Given the description of an element on the screen output the (x, y) to click on. 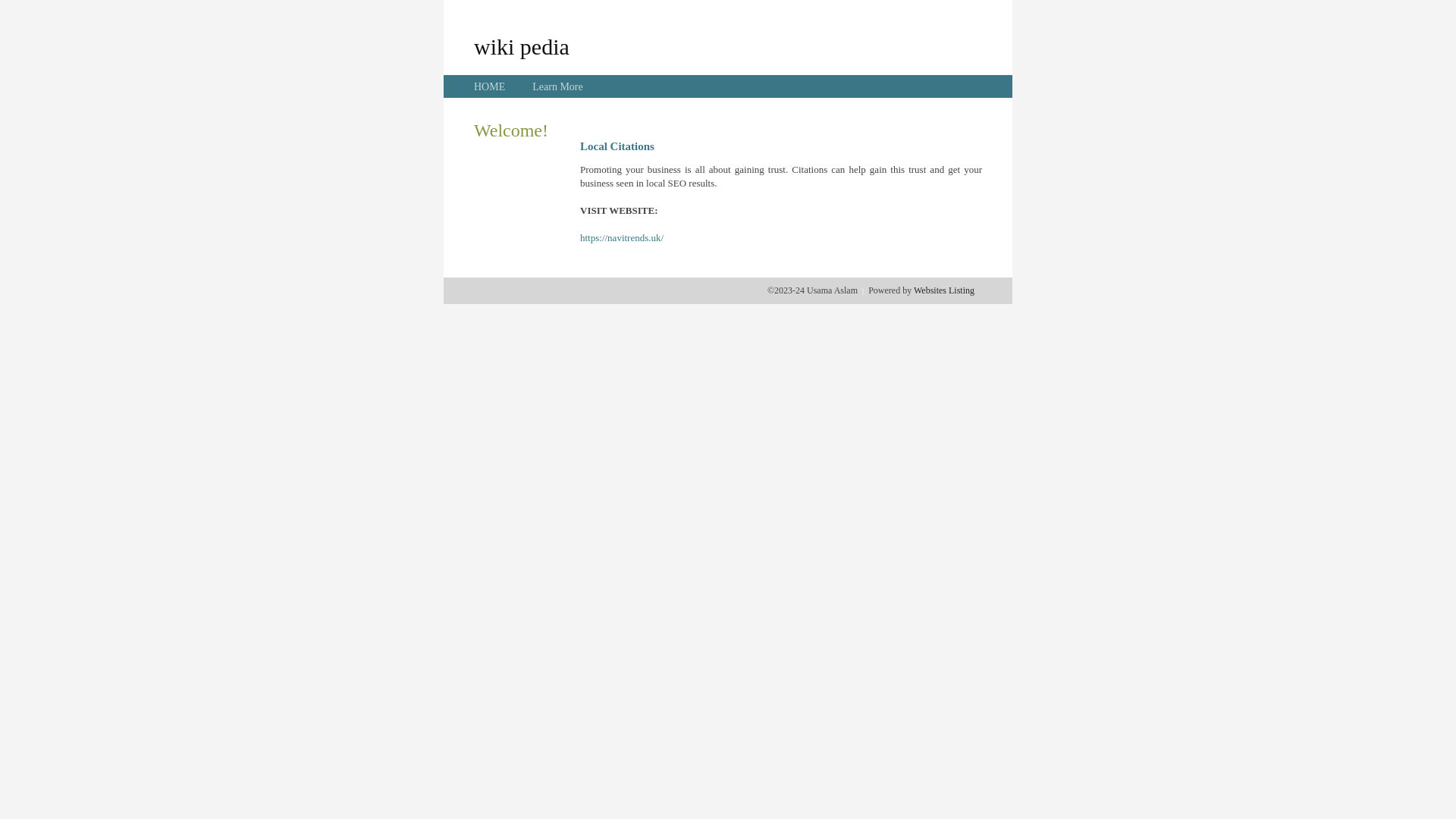
Learn More Element type: text (557, 86)
wiki pedia Element type: text (521, 46)
https://navitrends.uk/ Element type: text (621, 237)
HOME Element type: text (489, 86)
Websites Listing Element type: text (943, 290)
